Given the description of an element on the screen output the (x, y) to click on. 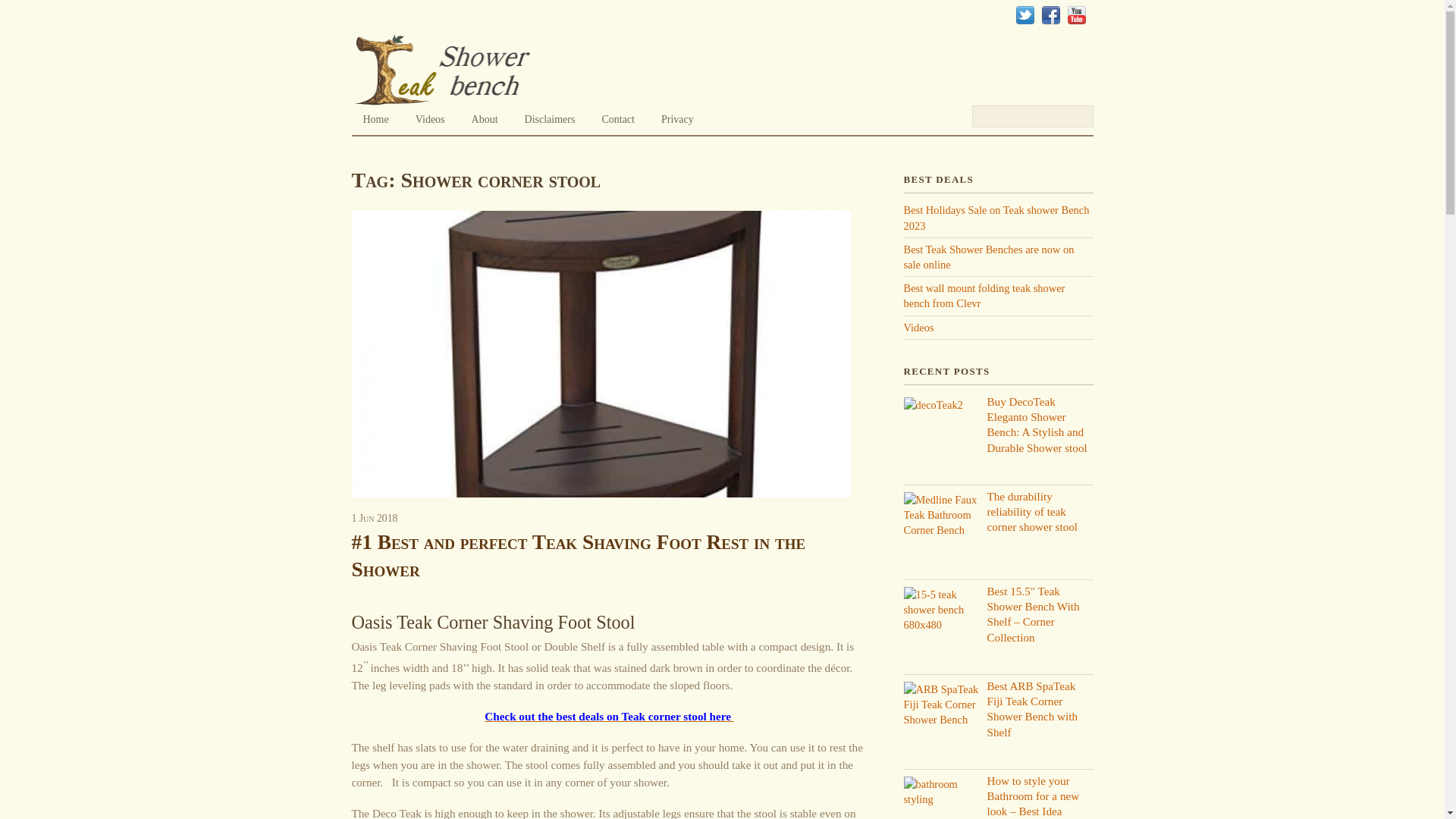
Best wall mount folding teak shower bench from Clevr (984, 295)
Best Teak Shower furniture (444, 69)
About (484, 116)
Best Teak Shower furniture (444, 97)
Search (1032, 116)
Privacy (676, 116)
Contact (617, 116)
Best Holidays Sale on Teak shower Bench 2023 (996, 216)
Videos (430, 116)
Home (376, 116)
Disclaimers (549, 116)
Videos (919, 327)
Best Teak Shower Benches are now on sale online (989, 257)
Check out the best deals on Teak corner stool here  (608, 716)
